Given the description of an element on the screen output the (x, y) to click on. 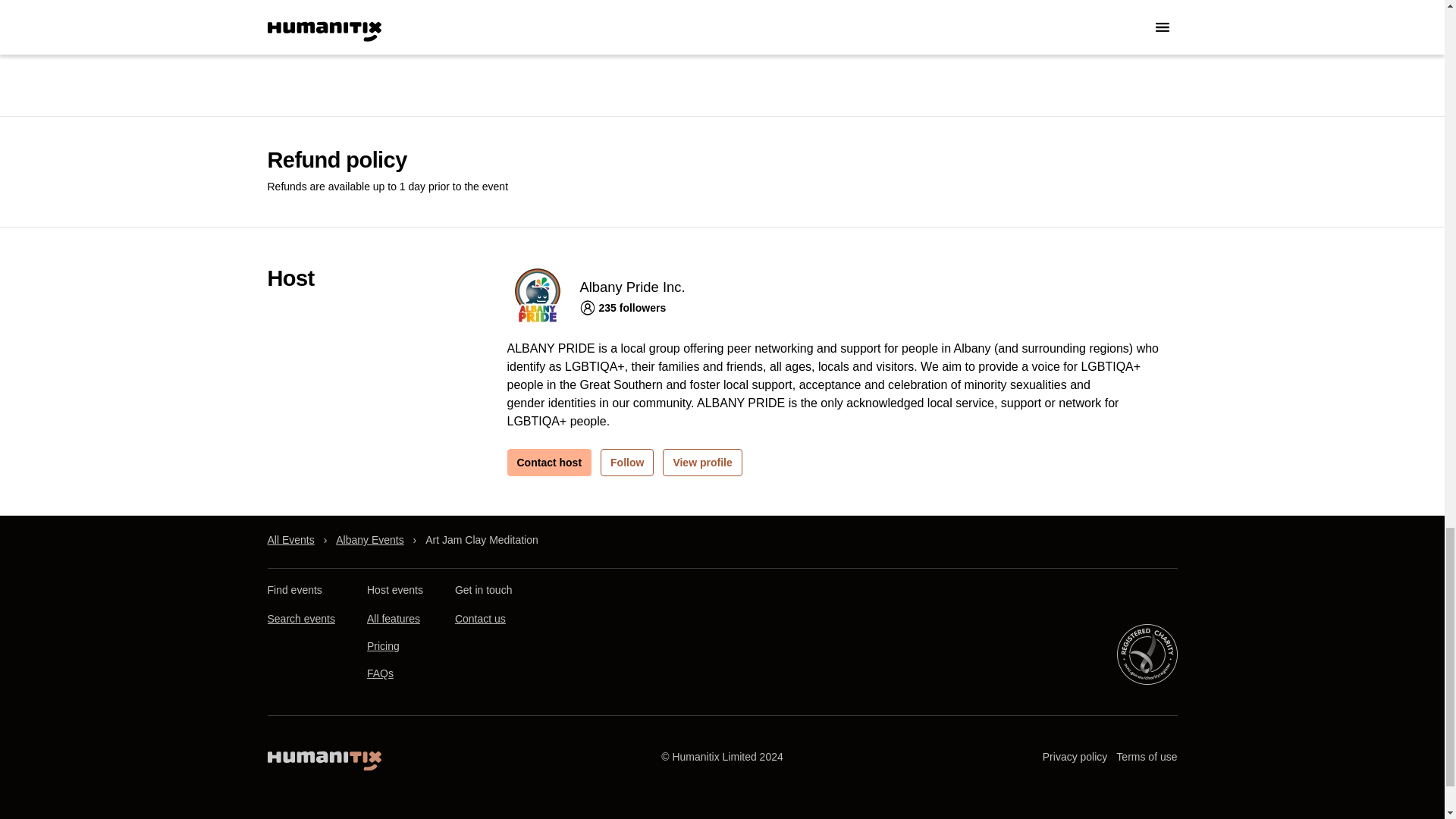
Privacy policy (1075, 756)
Contact us (479, 619)
Art Jam Clay Meditation (481, 539)
FAQs (379, 673)
Albany Events (370, 539)
Pricing (382, 646)
Contact host (548, 461)
Search events (300, 619)
All features (393, 619)
All Events (290, 539)
